Given the description of an element on the screen output the (x, y) to click on. 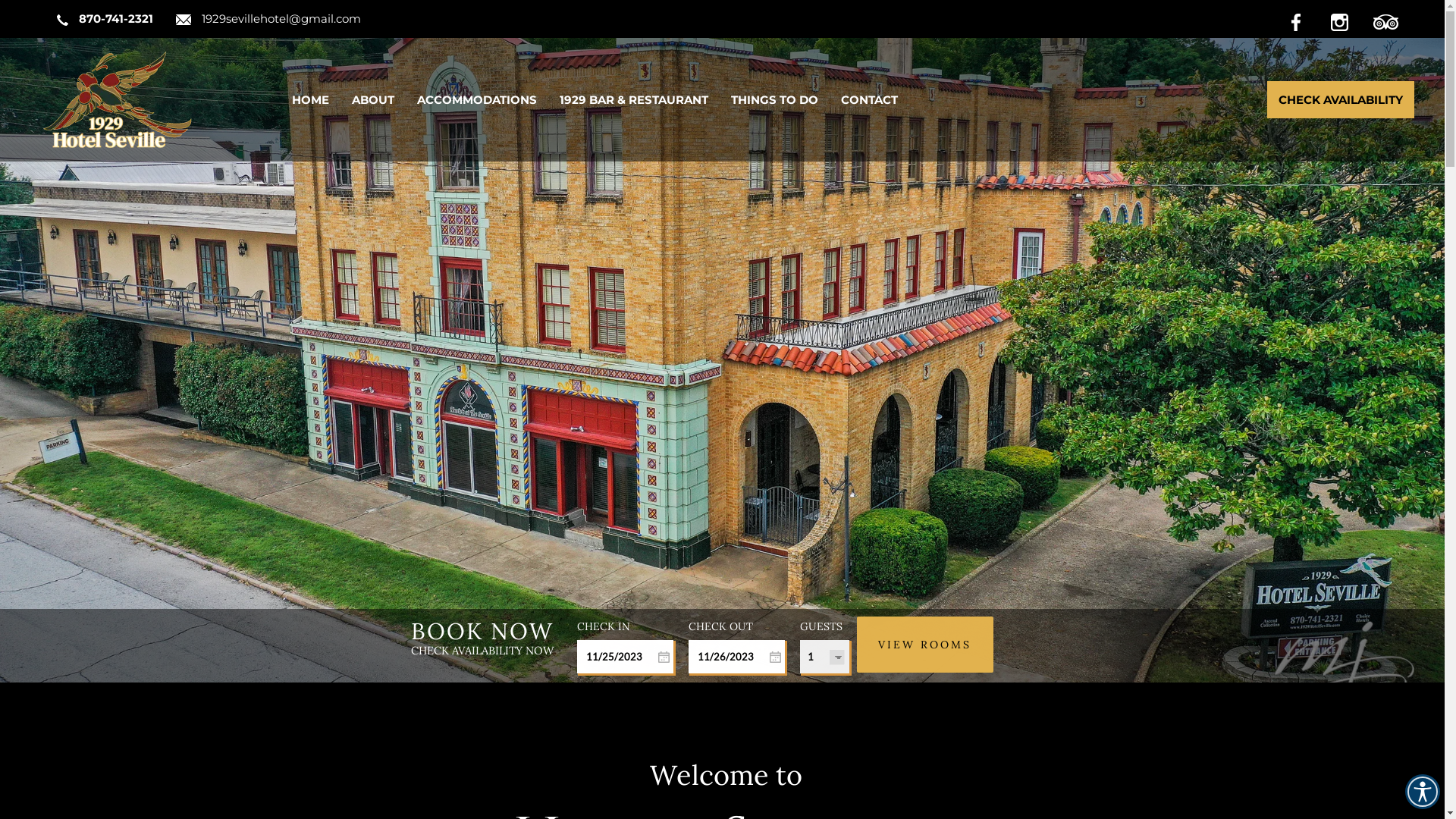
VIEW ROOMS Element type: text (924, 644)
1929sevillehotel@gmail.com Element type: text (271, 18)
Hotel Seville Exterior Element type: hover (722, 341)
1929 BAR & RESTAURANT Element type: text (633, 98)
Start Date Element type: hover (625, 656)
870-741-2321 Element type: text (108, 18)
HOME Element type: text (310, 98)
ABOUT Element type: text (372, 98)
CONTACT Element type: text (869, 98)
CHECK AVAILABILITY Element type: text (1340, 98)
End Date Element type: hover (736, 656)
THINGS TO DO Element type: text (774, 98)
ACCOMMODATIONS Element type: text (476, 98)
